Given the description of an element on the screen output the (x, y) to click on. 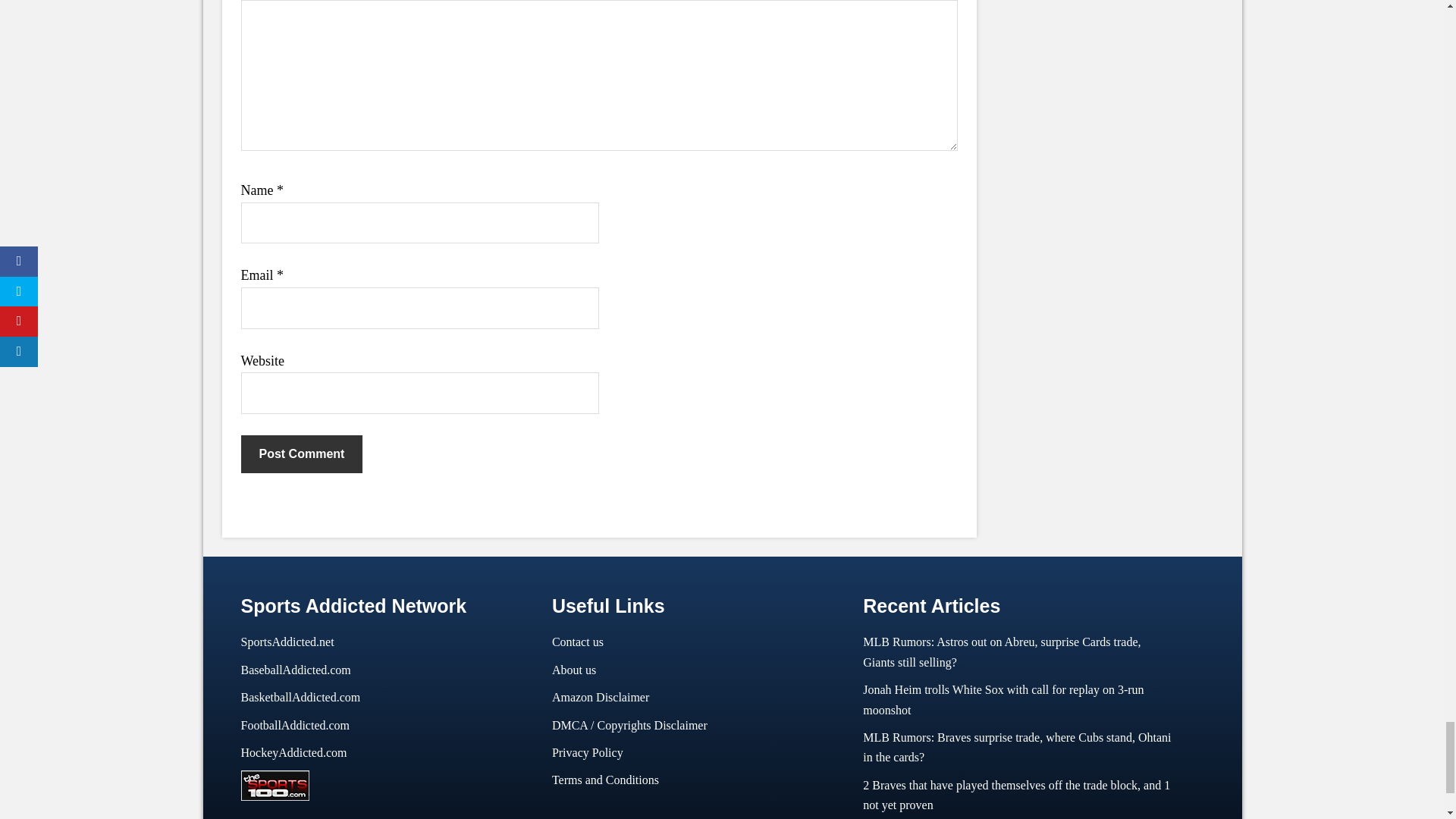
Post Comment (301, 453)
